Given the description of an element on the screen output the (x, y) to click on. 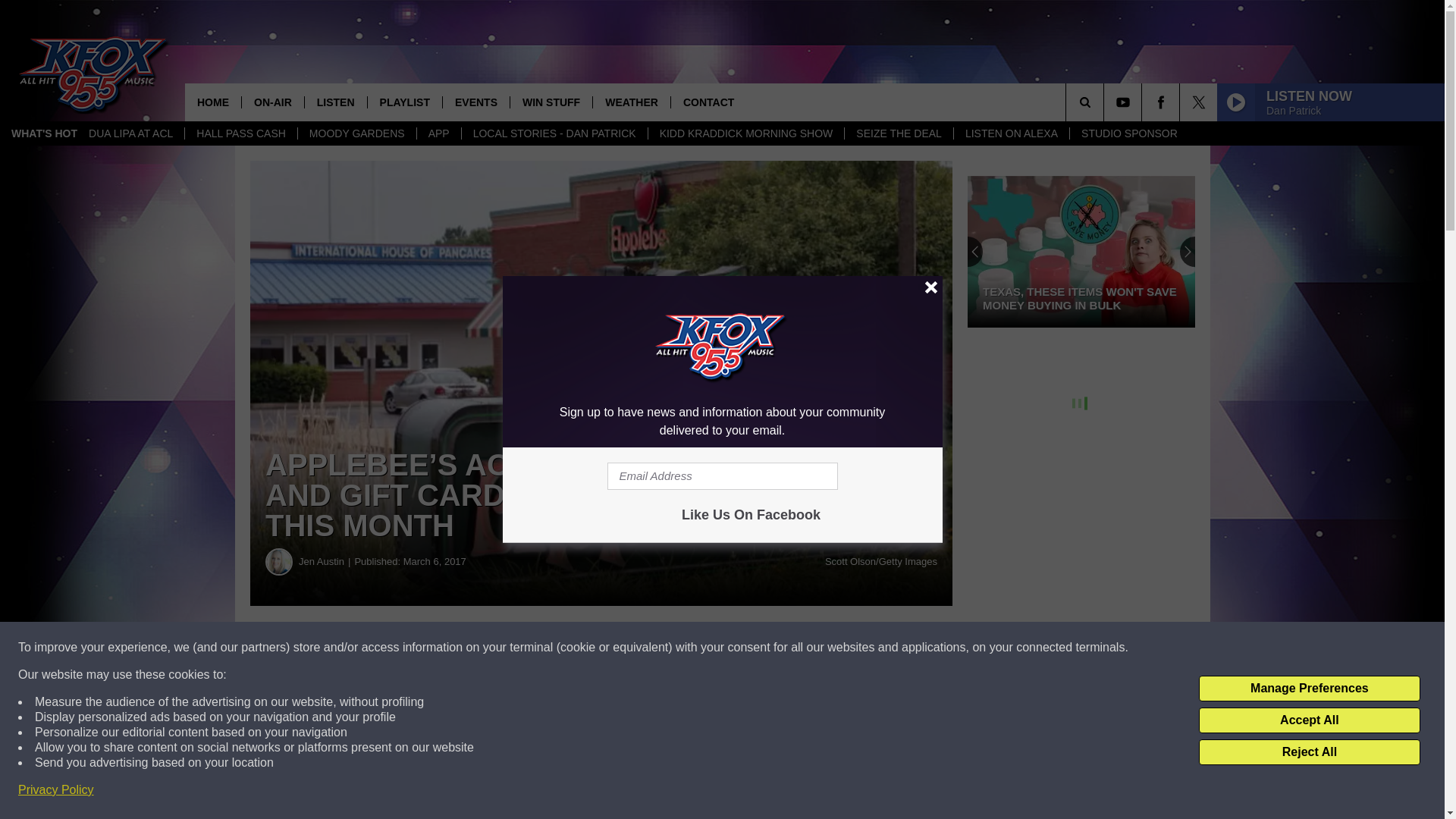
SEARCH (1106, 102)
HALL PASS CASH (240, 133)
SEIZE THE DEAL (898, 133)
DUA LIPA AT ACL (130, 133)
LISTEN (335, 102)
STUDIO SPONSOR (1128, 133)
LOCAL STORIES - DAN PATRICK (554, 133)
Reject All (1309, 751)
PLAYLIST (404, 102)
MOODY GARDENS (356, 133)
Privacy Policy (55, 789)
Manage Preferences (1309, 688)
ON-AIR (272, 102)
Share on Facebook (460, 647)
WIN STUFF (550, 102)
